Given the description of an element on the screen output the (x, y) to click on. 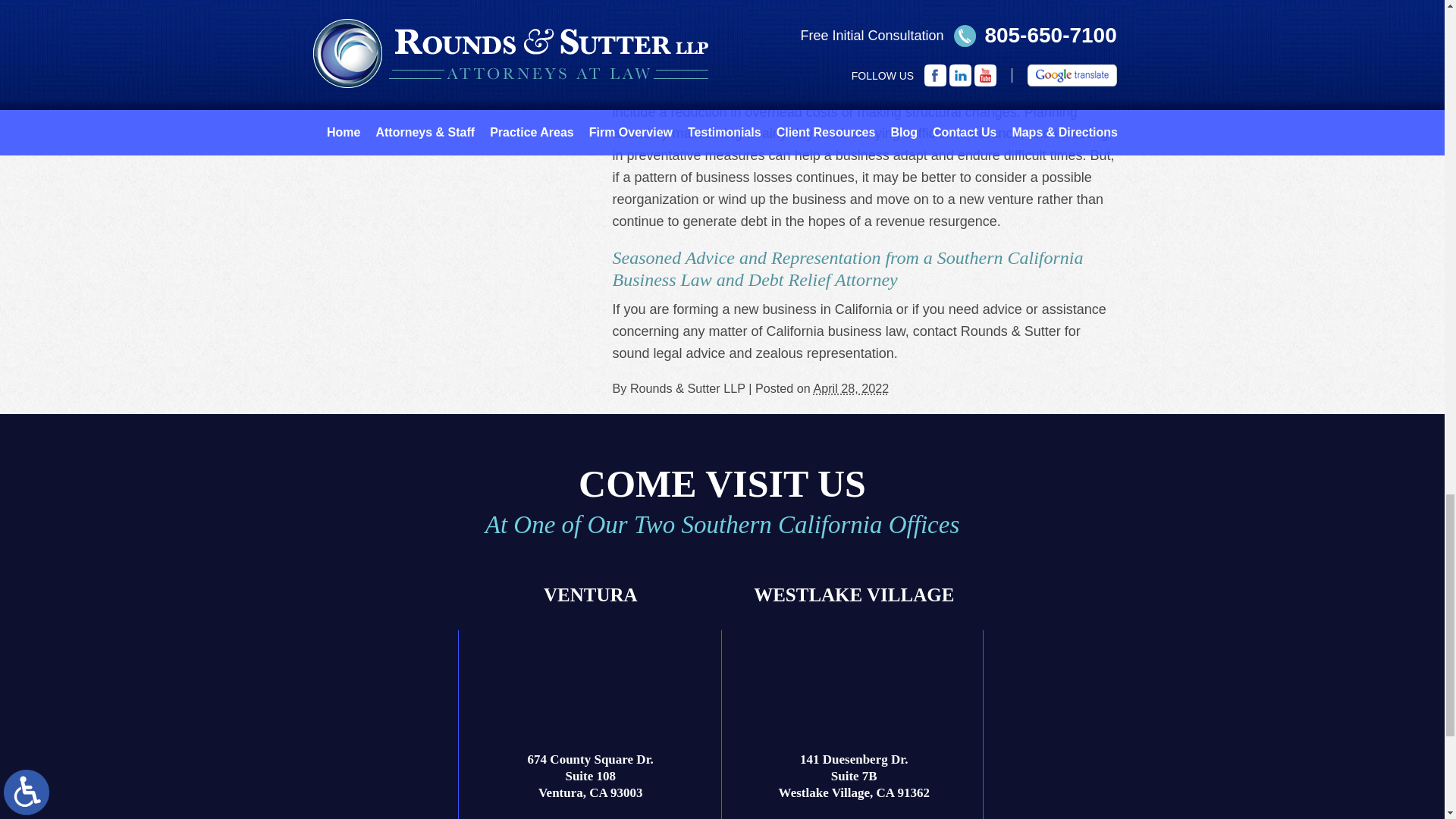
2022-04-28T10:08:11-0700 (850, 387)
